Given the description of an element on the screen output the (x, y) to click on. 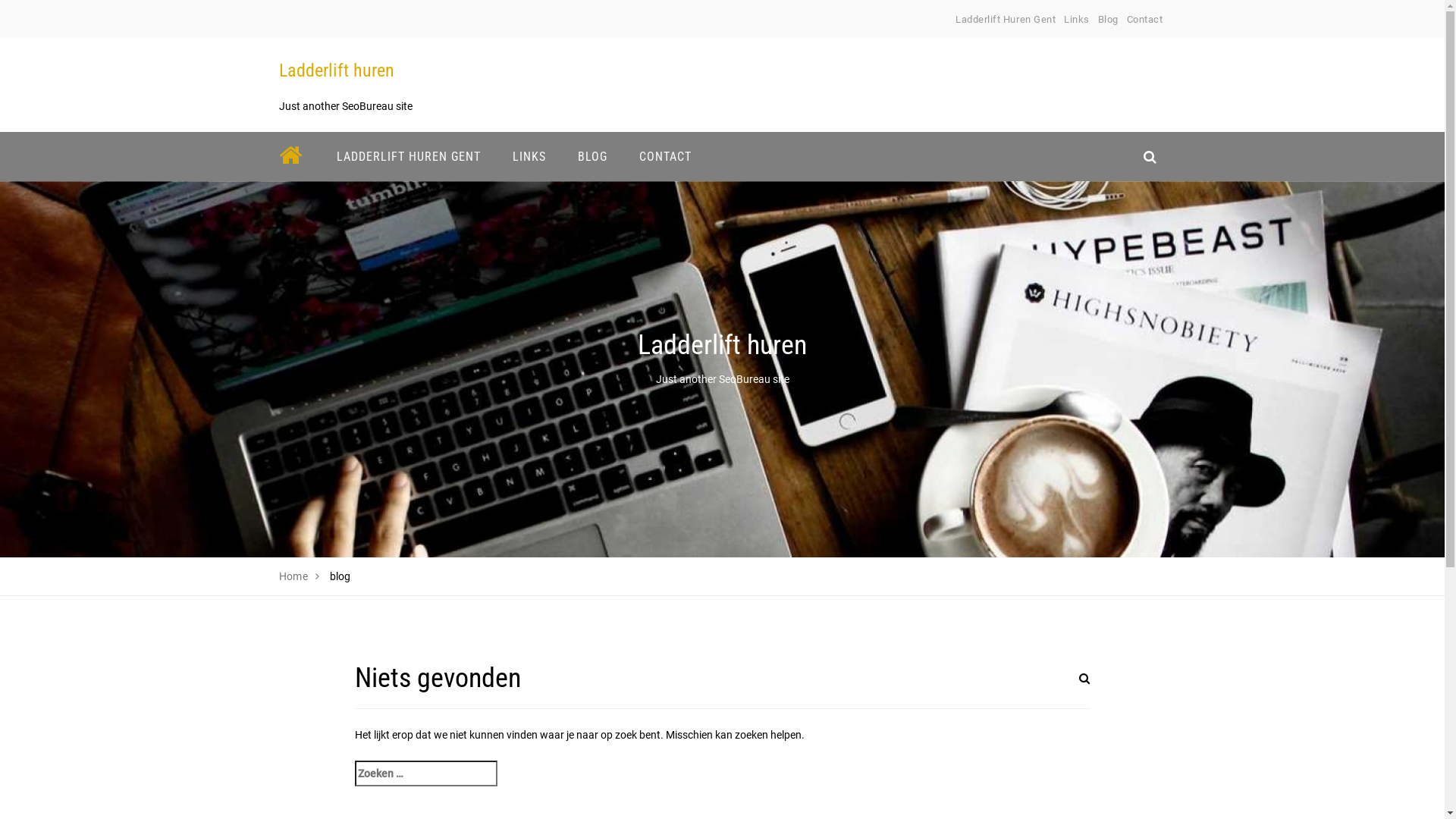
Links Element type: text (1076, 19)
Ladderlift Huren Gent Element type: text (1005, 19)
CONTACT Element type: text (665, 156)
Zoeken Element type: text (1066, 687)
LINKS Element type: text (528, 156)
Blog Element type: text (1108, 19)
Home Element type: text (293, 576)
Contact Element type: text (1144, 19)
search_icon Element type: hover (1148, 156)
BLOG Element type: text (591, 156)
LADDERLIFT HUREN GENT Element type: text (407, 156)
Ladderlift huren Element type: text (336, 70)
